Given the description of an element on the screen output the (x, y) to click on. 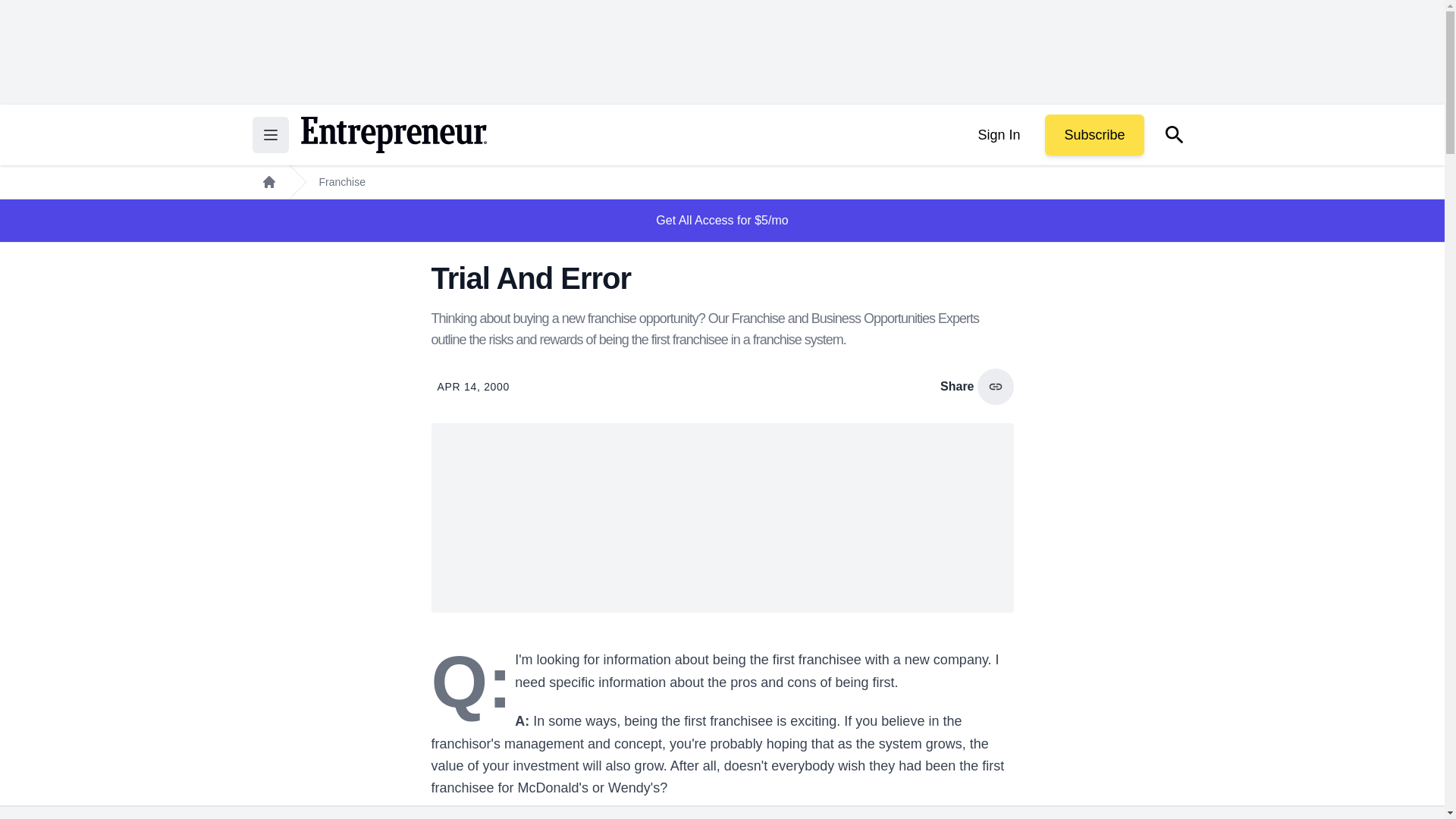
copy (994, 386)
Sign In (998, 134)
Return to the home page (392, 135)
Subscribe (1093, 134)
